Given the description of an element on the screen output the (x, y) to click on. 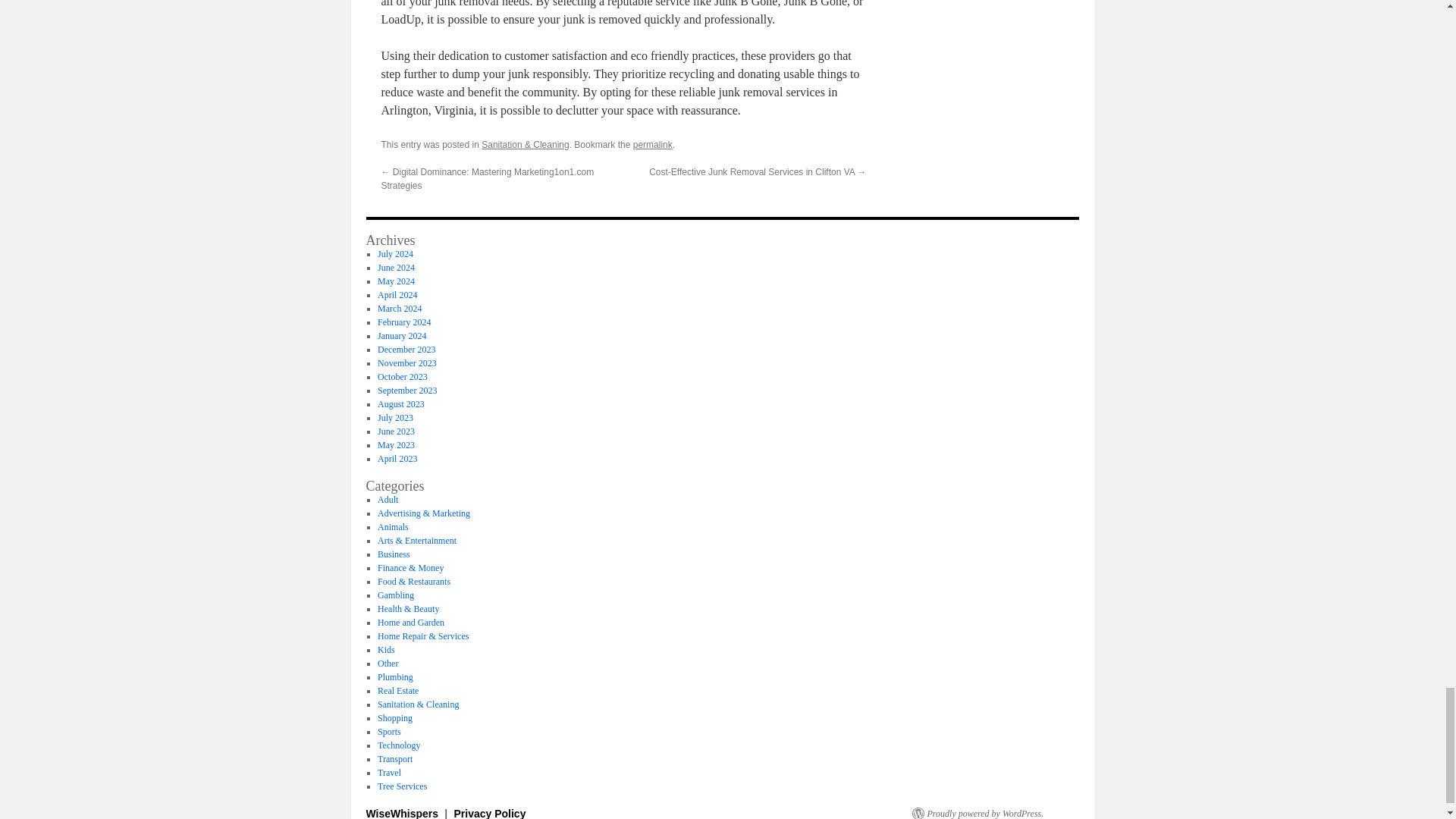
December 2023 (406, 348)
November 2023 (406, 362)
May 2024 (395, 281)
June 2024 (395, 267)
July 2023 (395, 417)
March 2024 (399, 308)
August 2023 (401, 403)
Adult (387, 499)
April 2024 (396, 294)
